Given the description of an element on the screen output the (x, y) to click on. 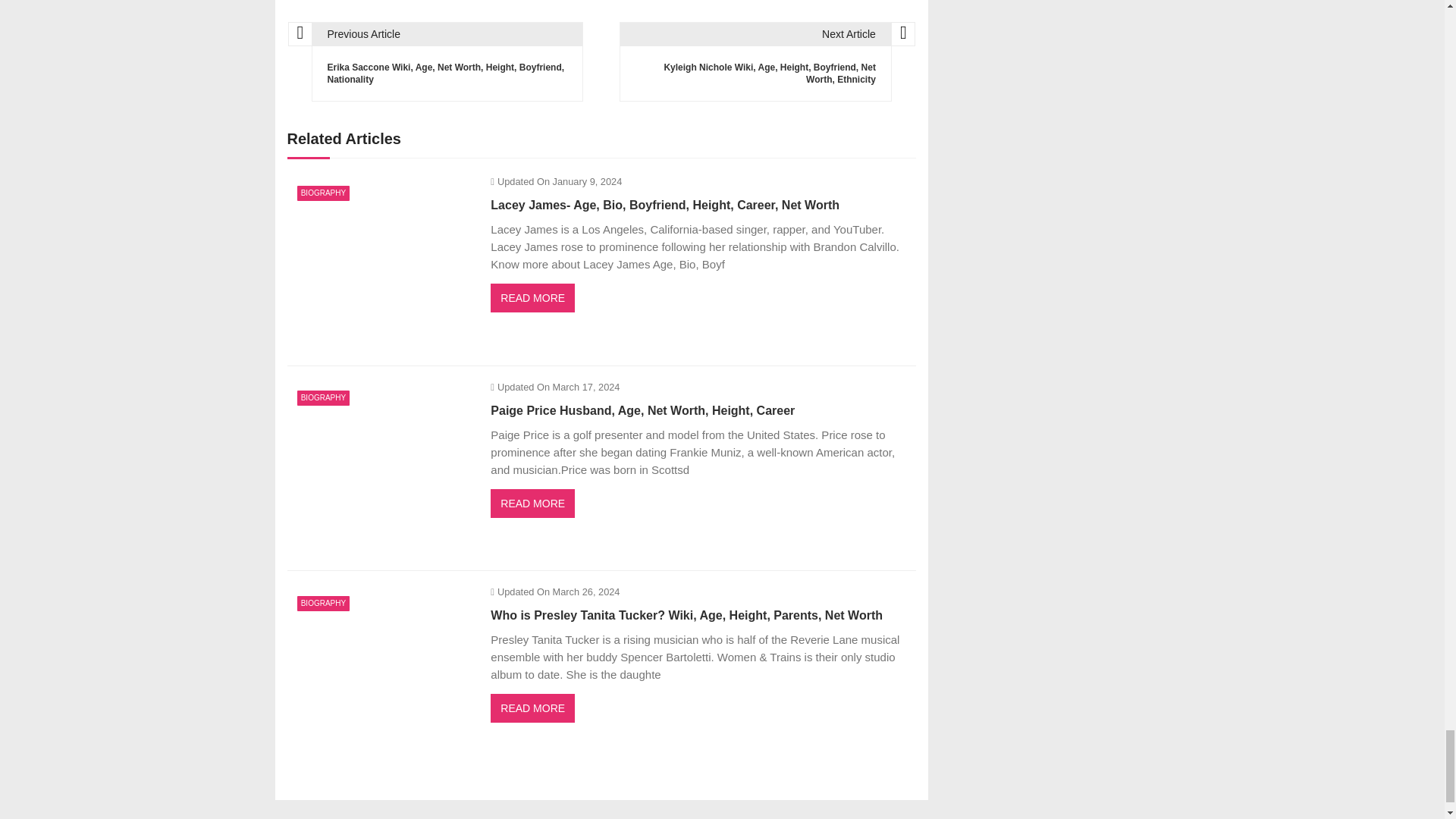
Lacey James- Age, Bio, Boyfriend, Height, Career, Net Worth (381, 263)
Paige Price Husband, Age, Net Worth, Height, Career (381, 468)
